Given the description of an element on the screen output the (x, y) to click on. 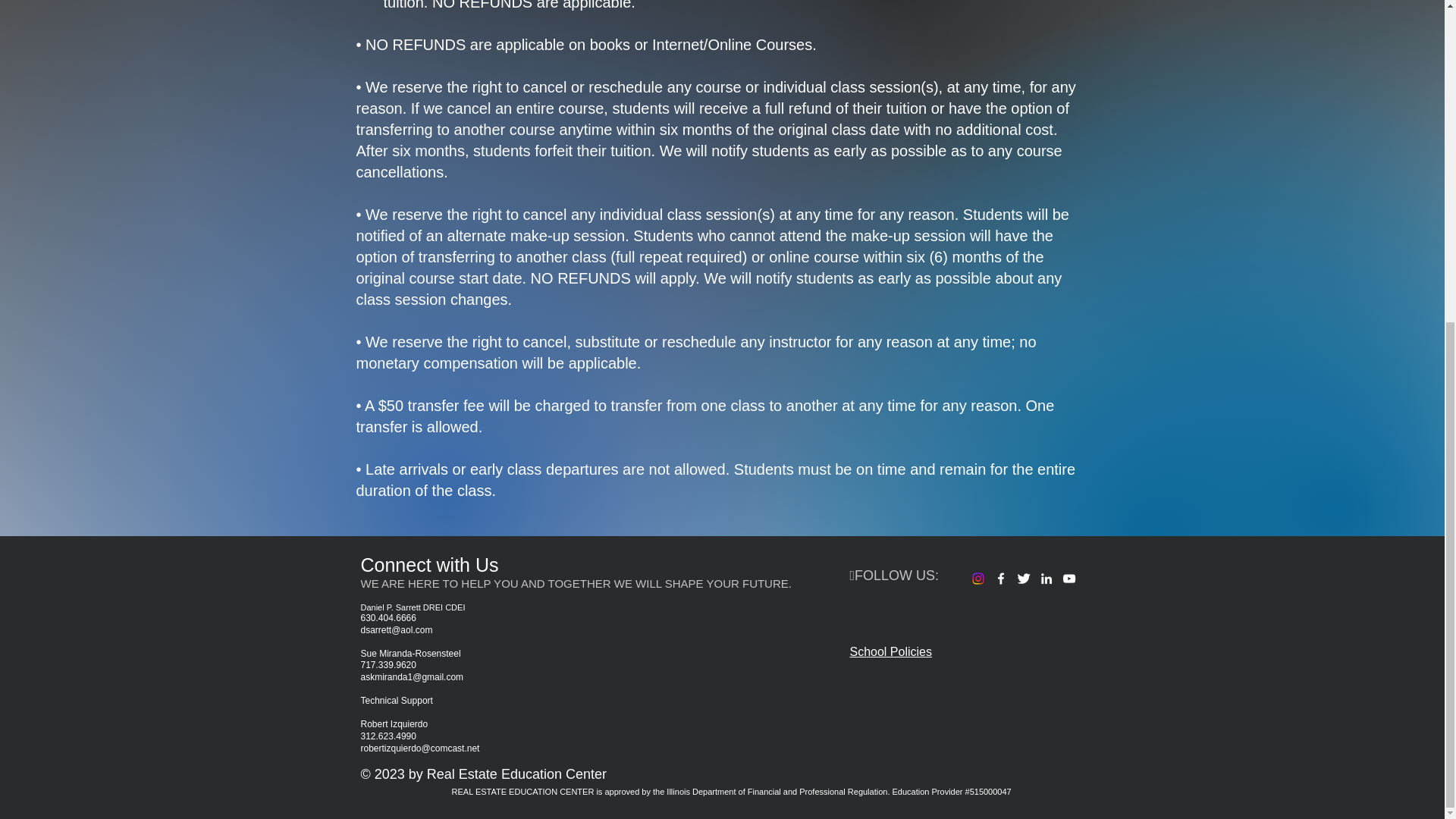
School Policies (889, 651)
